Given the description of an element on the screen output the (x, y) to click on. 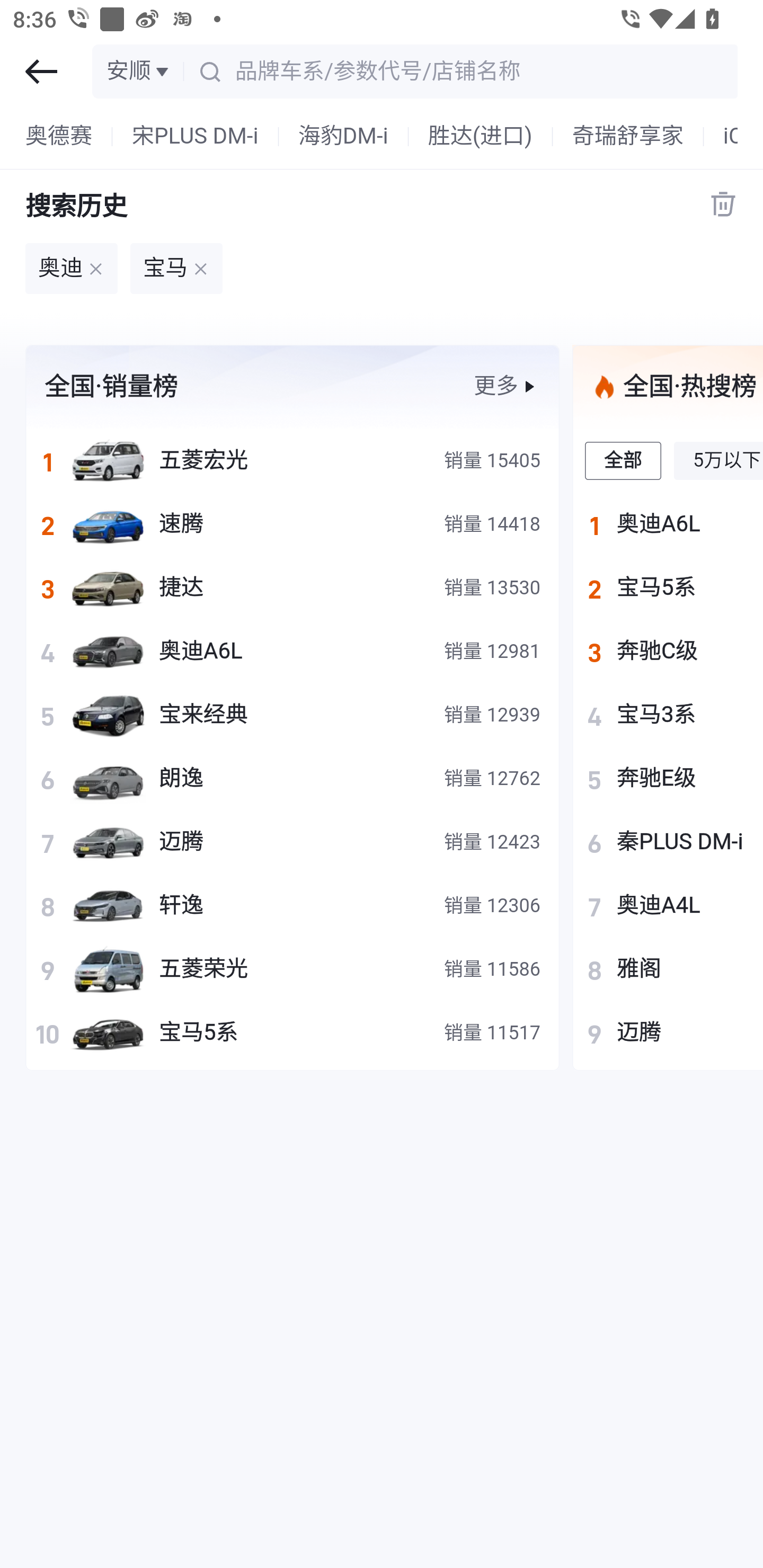
安顺 (139, 70)
奥德赛 (59, 136)
宋PLUS DM-i (195, 136)
海豹DM-i (343, 136)
胜达(进口) (479, 136)
奇瑞舒享家 (626, 136)
奥迪 (71, 269)
宝马 (176, 269)
更多 (506, 386)
1 五菱宏光 销量 15405 (292, 460)
全部 (624, 459)
5万以下 (718, 459)
2 速腾 销量 14418 (292, 523)
1奥迪A6L1.98-54.50万 (667, 523)
3 捷达 销量 13530 (292, 587)
2宝马5系1.80-55.00万 (667, 587)
4 奥迪A6L 销量 12981 (292, 650)
3奔驰C级2.85-33.68万 (667, 650)
5 宝来经典 销量 12939 (292, 714)
4宝马3系1.65-33.58万 (667, 714)
6 朗逸 销量 12762 (292, 777)
5奔驰E级2.67-58.80万 (667, 777)
7 迈腾 销量 12423 (292, 841)
6秦PLUS DM-i5.90-12.98万 (667, 841)
8 轩逸 销量 12306 (292, 904)
7奥迪A4L2.68-32.30万 (667, 904)
9 五菱荣光 销量 11586 (292, 968)
8雅阁1.08-19.80万 (667, 968)
10 宝马5系 销量 11517 (292, 1032)
9迈腾1.18-21.38万 (667, 1032)
